Given the description of an element on the screen output the (x, y) to click on. 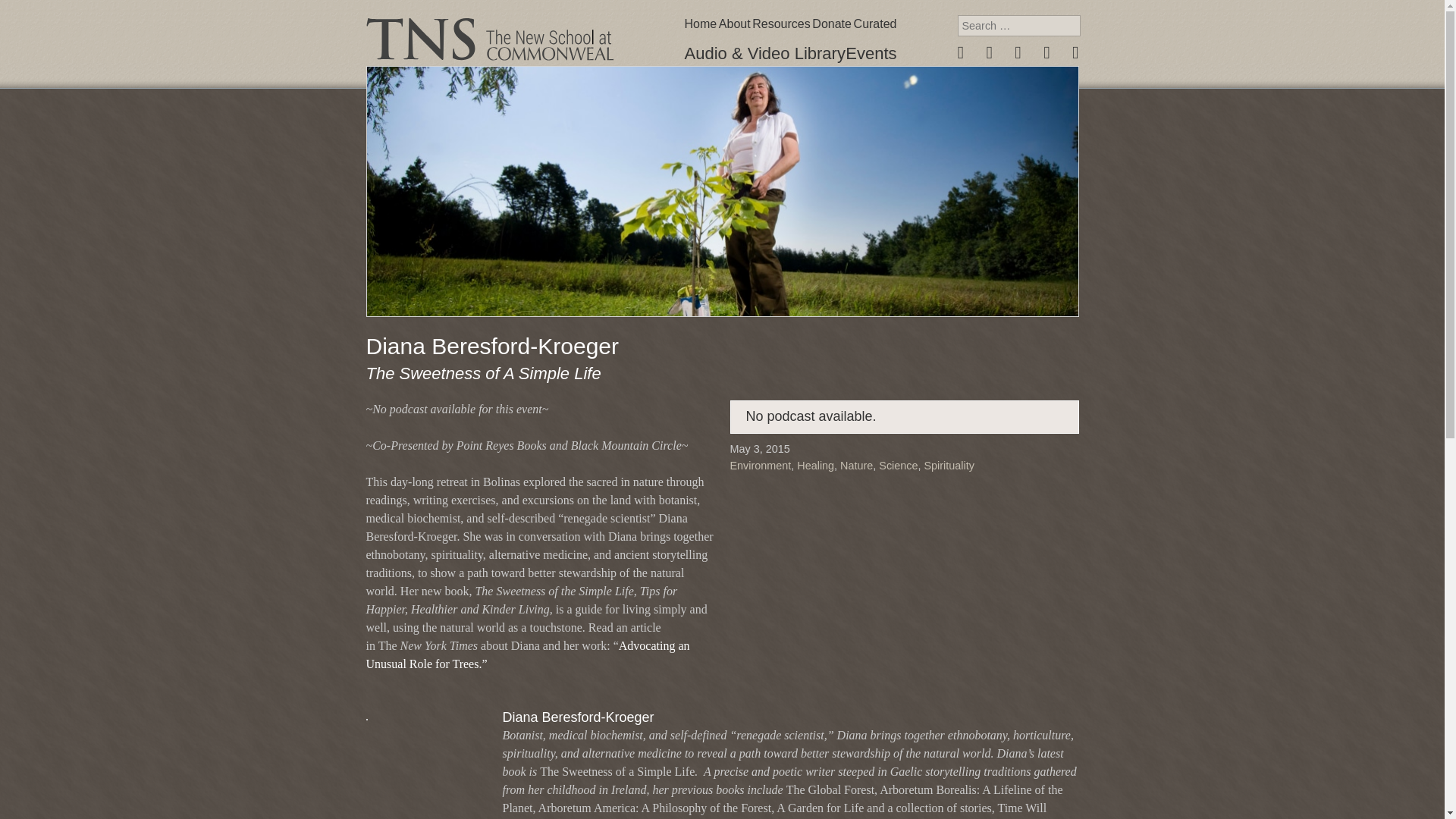
Events (870, 53)
Environment (759, 465)
Home (700, 24)
Curated (874, 24)
Spirituality (949, 465)
Healing (815, 465)
Resources (780, 24)
Donate (831, 24)
Science (898, 465)
Nature (856, 465)
